Given the description of an element on the screen output the (x, y) to click on. 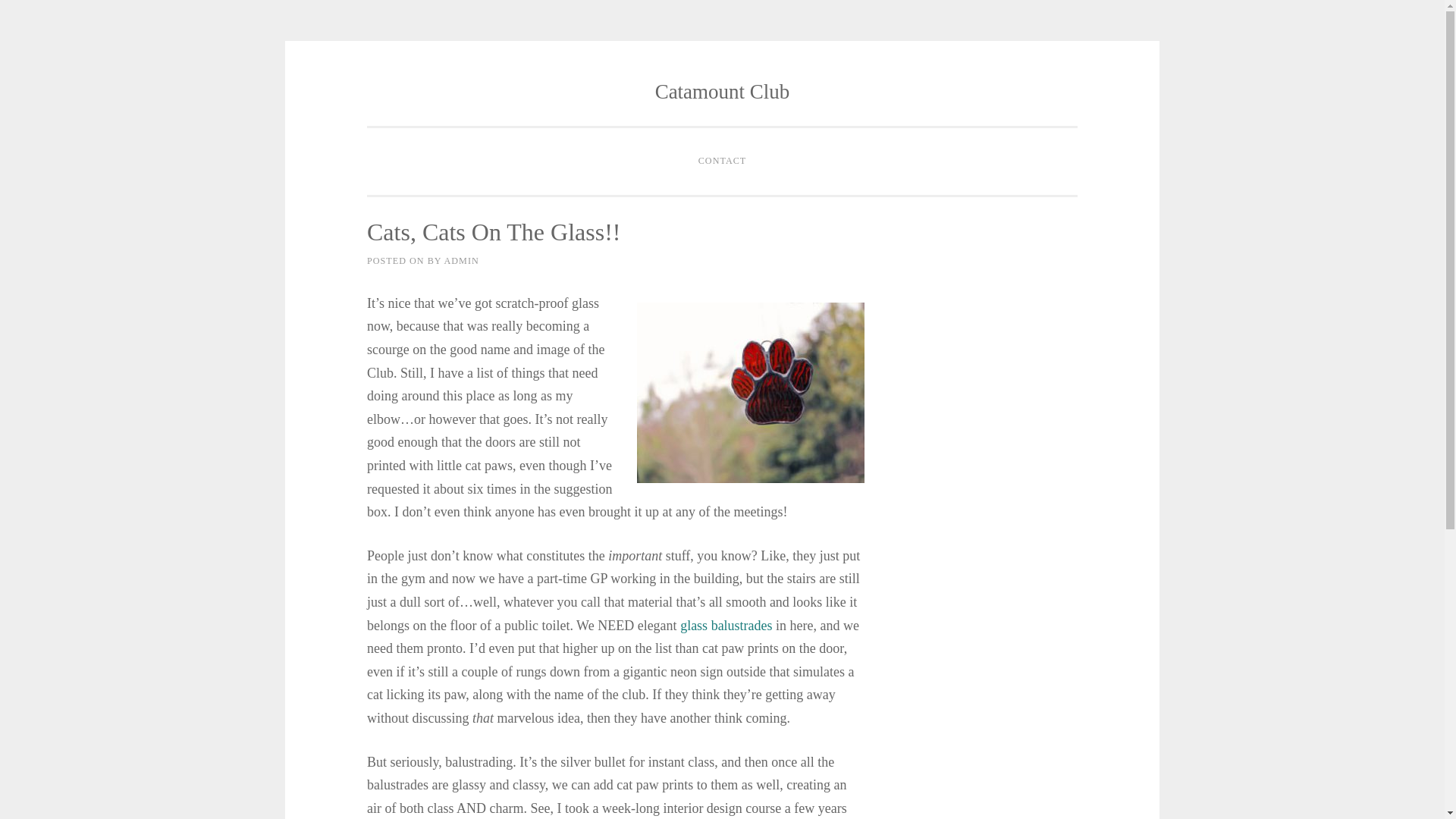
Catamount Club (722, 91)
CONTACT (722, 161)
ADMIN (461, 260)
Catamount Club (722, 91)
glass balustrades (725, 625)
Skip to content (400, 91)
